Given the description of an element on the screen output the (x, y) to click on. 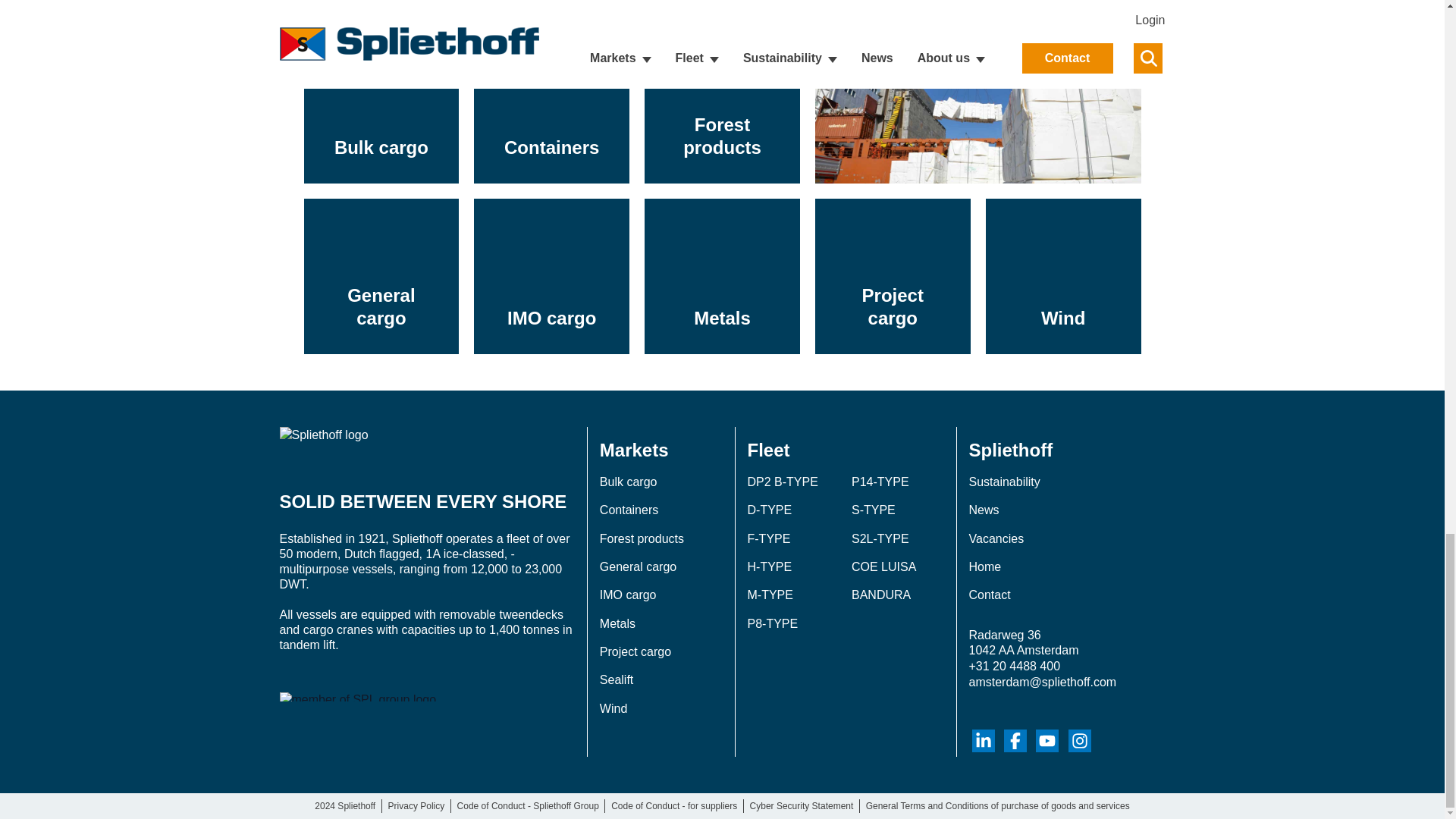
LinkedIn (983, 740)
Facebook (1015, 740)
Home (426, 446)
Instagram (1079, 740)
YouTube (1046, 740)
